Given the description of an element on the screen output the (x, y) to click on. 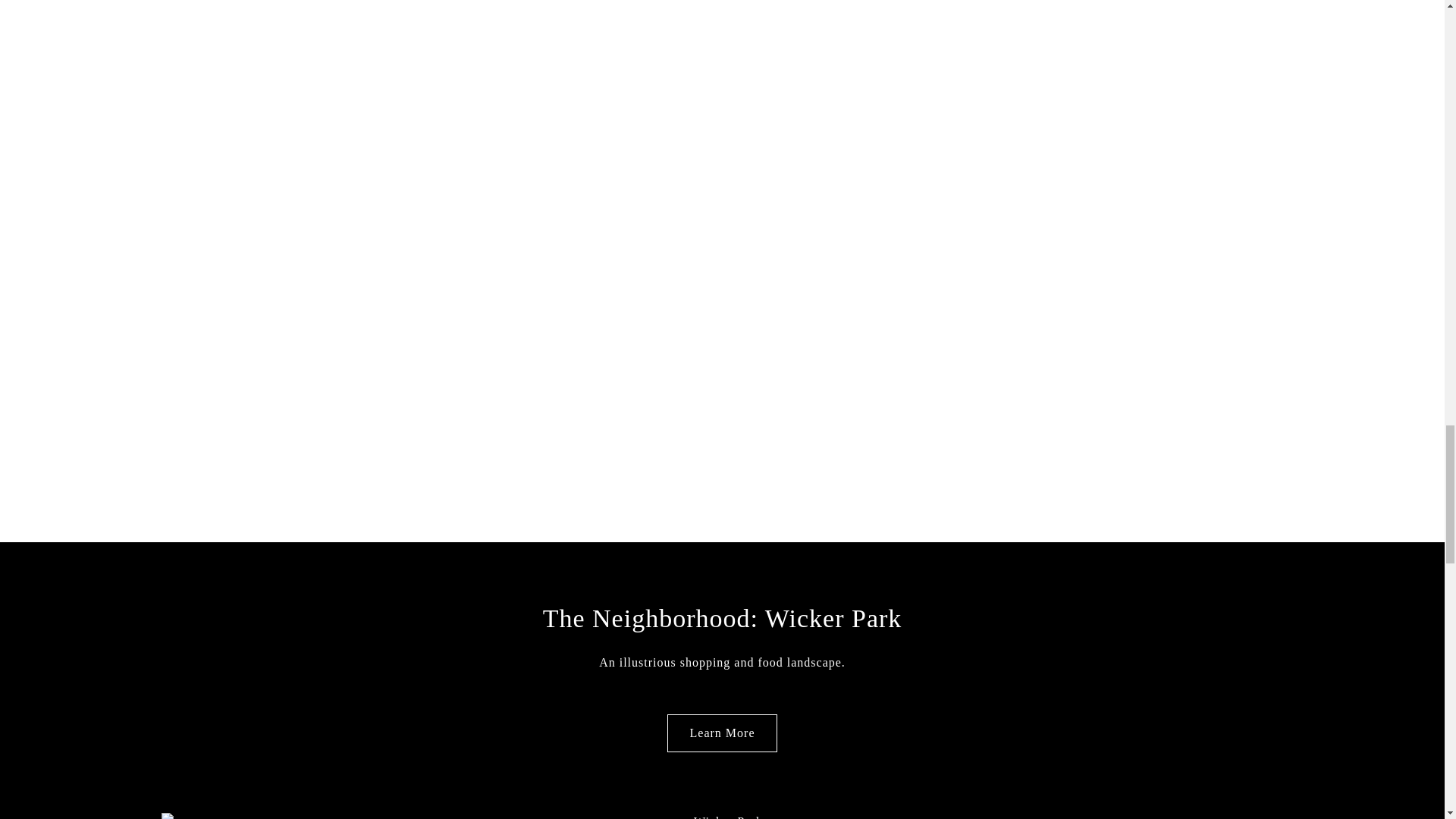
Learn More (721, 733)
